Given the description of an element on the screen output the (x, y) to click on. 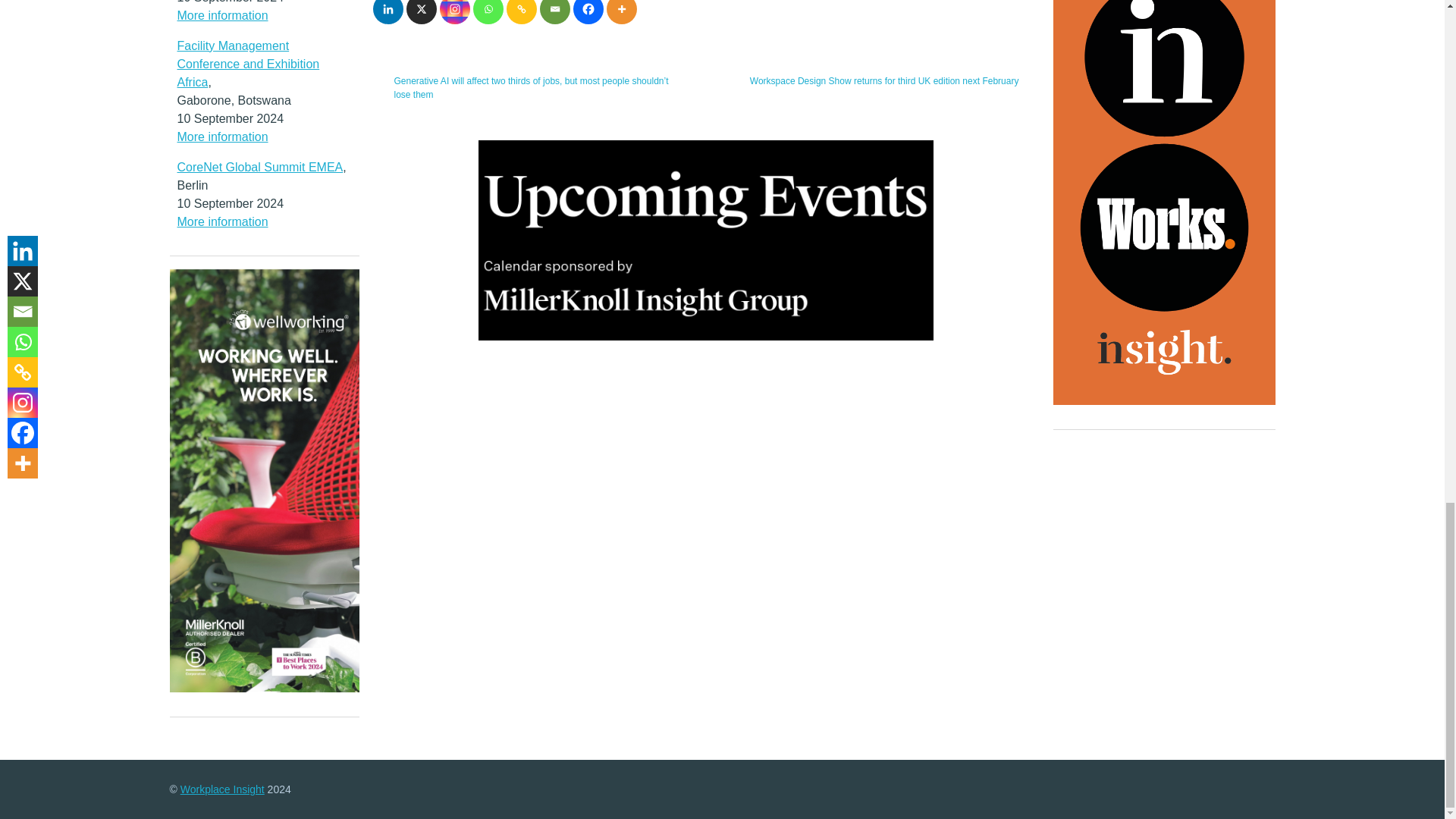
Linkedin (387, 12)
Facebook (588, 12)
X (421, 12)
Copy Link (521, 12)
Instagram (454, 12)
Whatsapp (488, 12)
More (622, 12)
Email (555, 12)
